Given the description of an element on the screen output the (x, y) to click on. 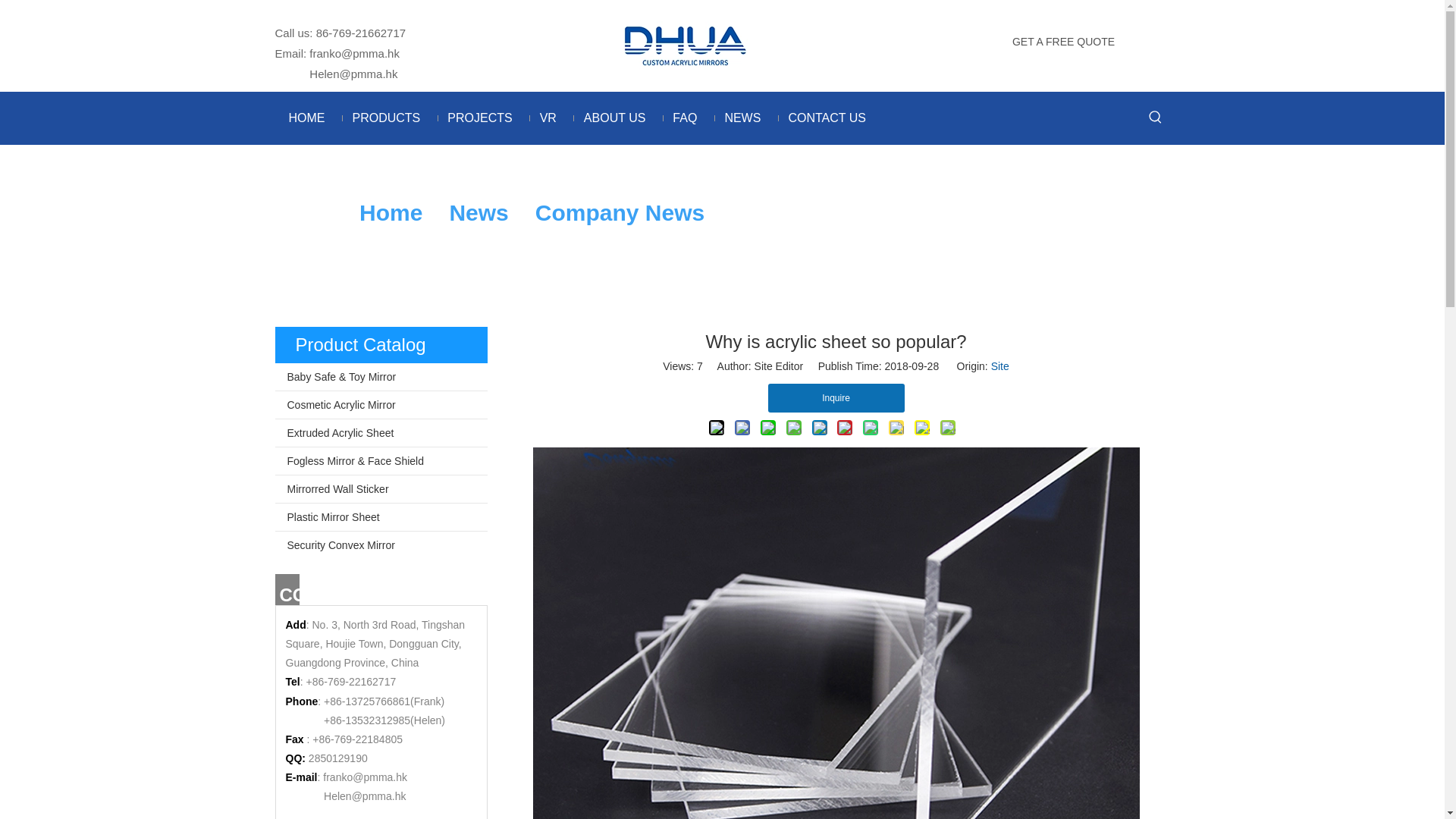
Security Convex Mirror (380, 544)
PRODUCTS (385, 118)
VR (547, 118)
Acrylic mirror, pmma mirror, acrylic mirror sheet (684, 43)
Extruded Acrylic Sheet (380, 432)
Cosmetic Acrylic Mirror (380, 404)
GET A FREE QUOTE (1063, 41)
FAQ (684, 118)
Plastic Mirror Sheet (380, 516)
Mirrorred Wall Sticker (380, 488)
CONTACT US (826, 118)
ABOUT US (614, 118)
PROJECTS (479, 118)
NEWS (742, 118)
HOME (306, 118)
